Given the description of an element on the screen output the (x, y) to click on. 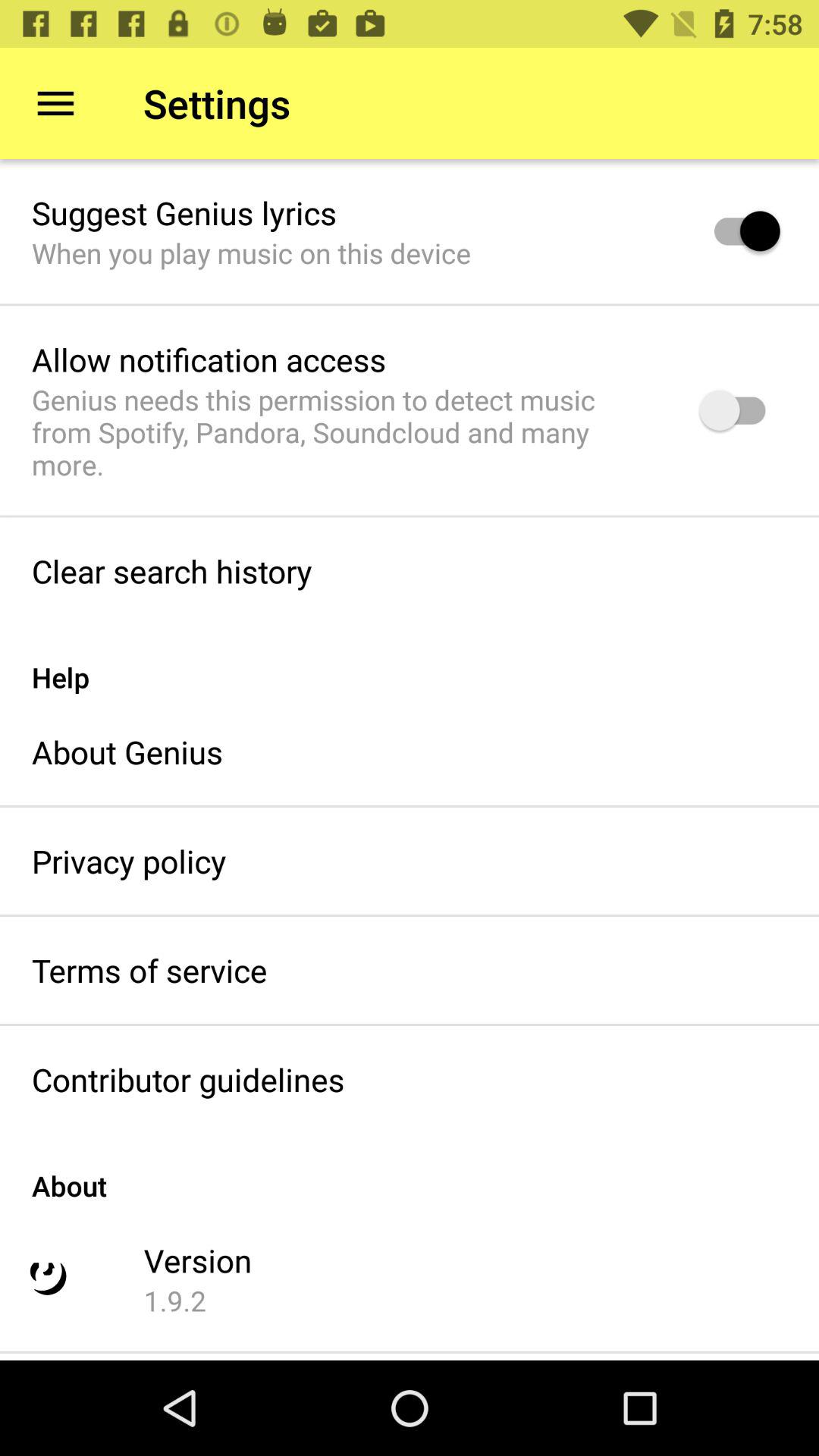
select the icon above terms of service icon (128, 860)
